Given the description of an element on the screen output the (x, y) to click on. 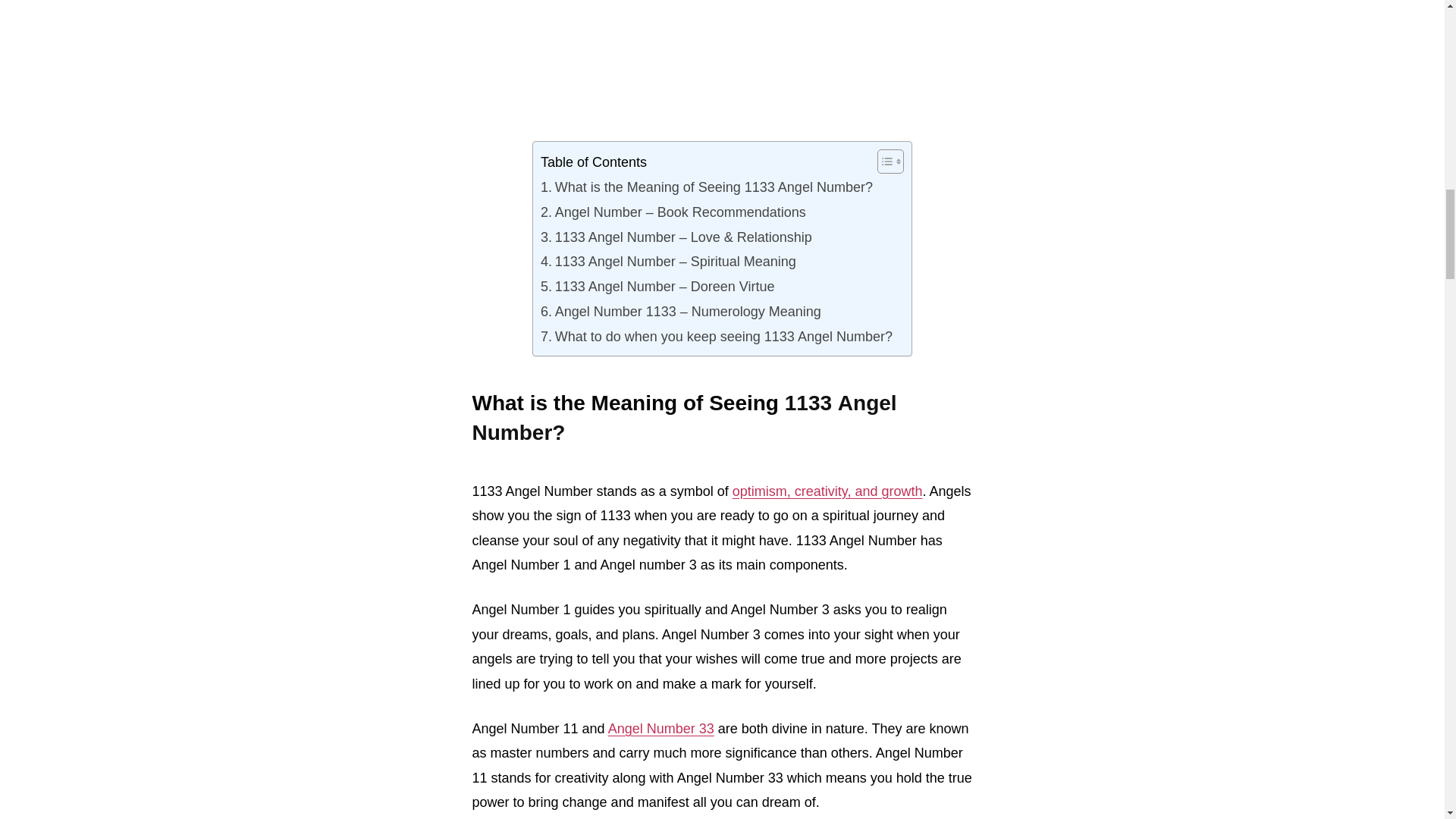
What is the Meaning of Seeing 1133 Angel Number? (706, 186)
What is the Meaning of Seeing 1133 Angel Number? (706, 186)
optimism, creativity, and growth (827, 491)
What to do when you keep seeing 1133 Angel Number?  (718, 335)
Angel Number 33 (661, 728)
